Given the description of an element on the screen output the (x, y) to click on. 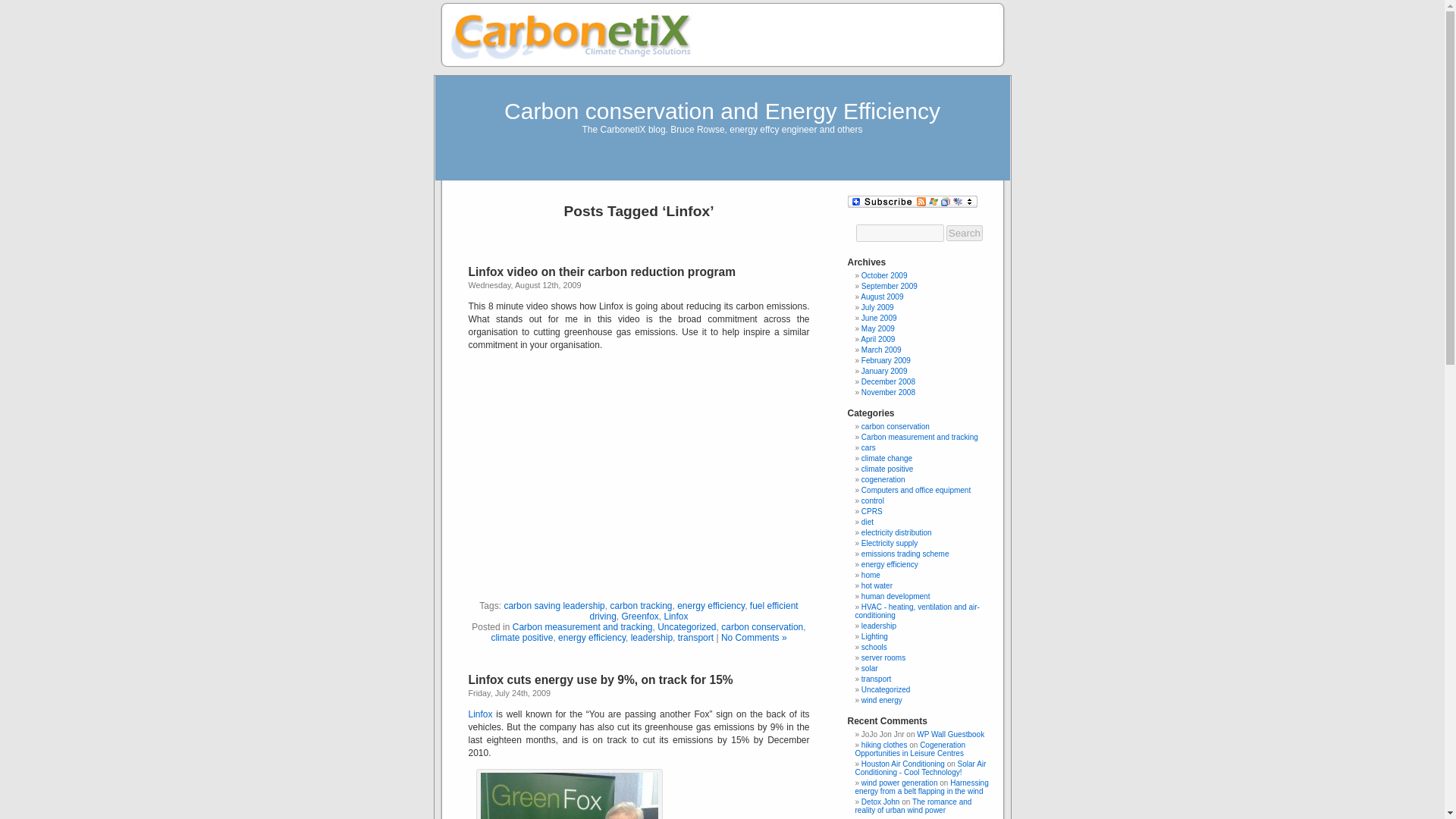
energy efficiency (710, 605)
Linfox (480, 714)
Search (964, 232)
August 2009 (881, 296)
carbon tracking (640, 605)
Linfox (675, 615)
Uncategorized (687, 626)
View all posts in energy efficiency (591, 637)
View all posts in Uncategorized (687, 626)
Greenfox (639, 615)
